Given the description of an element on the screen output the (x, y) to click on. 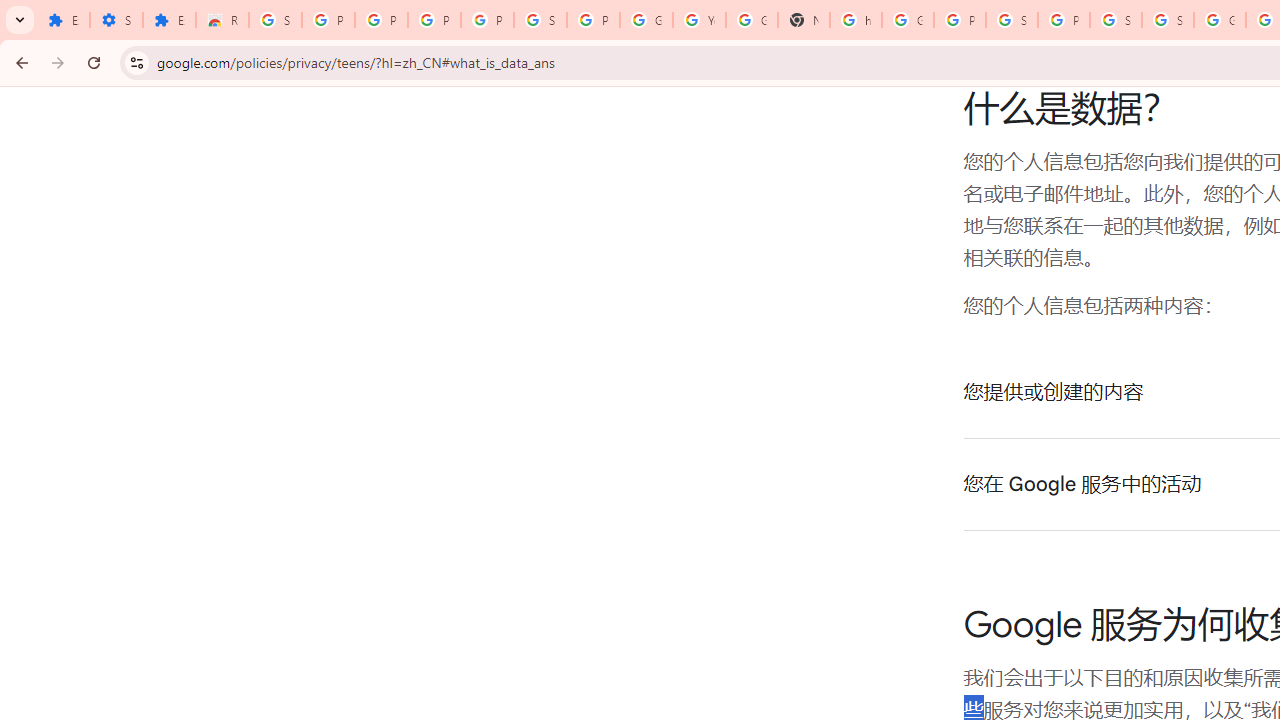
Google Account (646, 20)
YouTube (699, 20)
Reviews: Helix Fruit Jump Arcade Game (222, 20)
https://scholar.google.com/ (855, 20)
Sign in - Google Accounts (1115, 20)
New Tab (803, 20)
Sign in - Google Accounts (1167, 20)
